Given the description of an element on the screen output the (x, y) to click on. 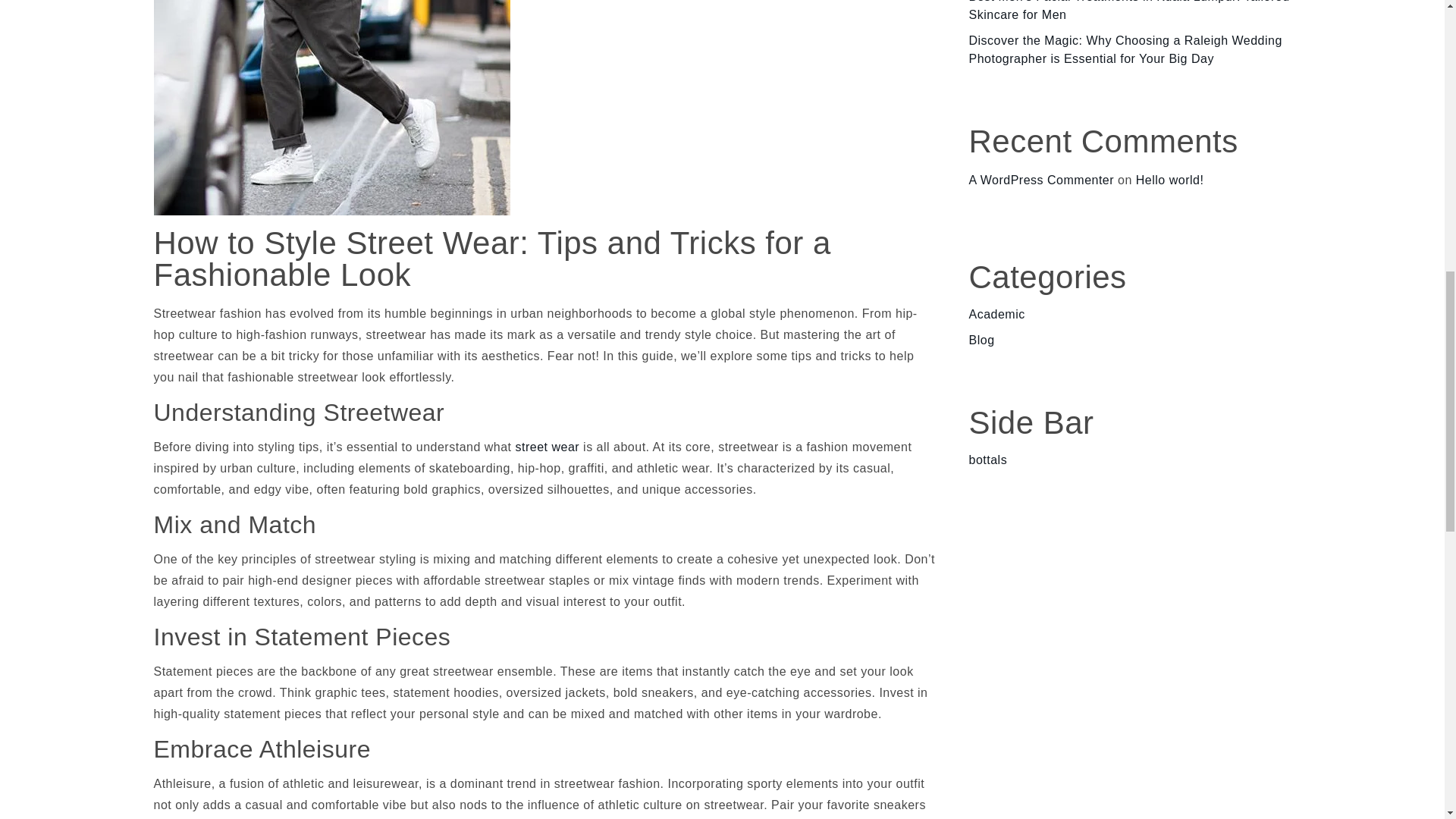
A WordPress Commenter (1042, 179)
Blog (981, 339)
street wear (547, 446)
Academic (997, 314)
Hello world! (1169, 179)
bottals (988, 459)
